Given the description of an element on the screen output the (x, y) to click on. 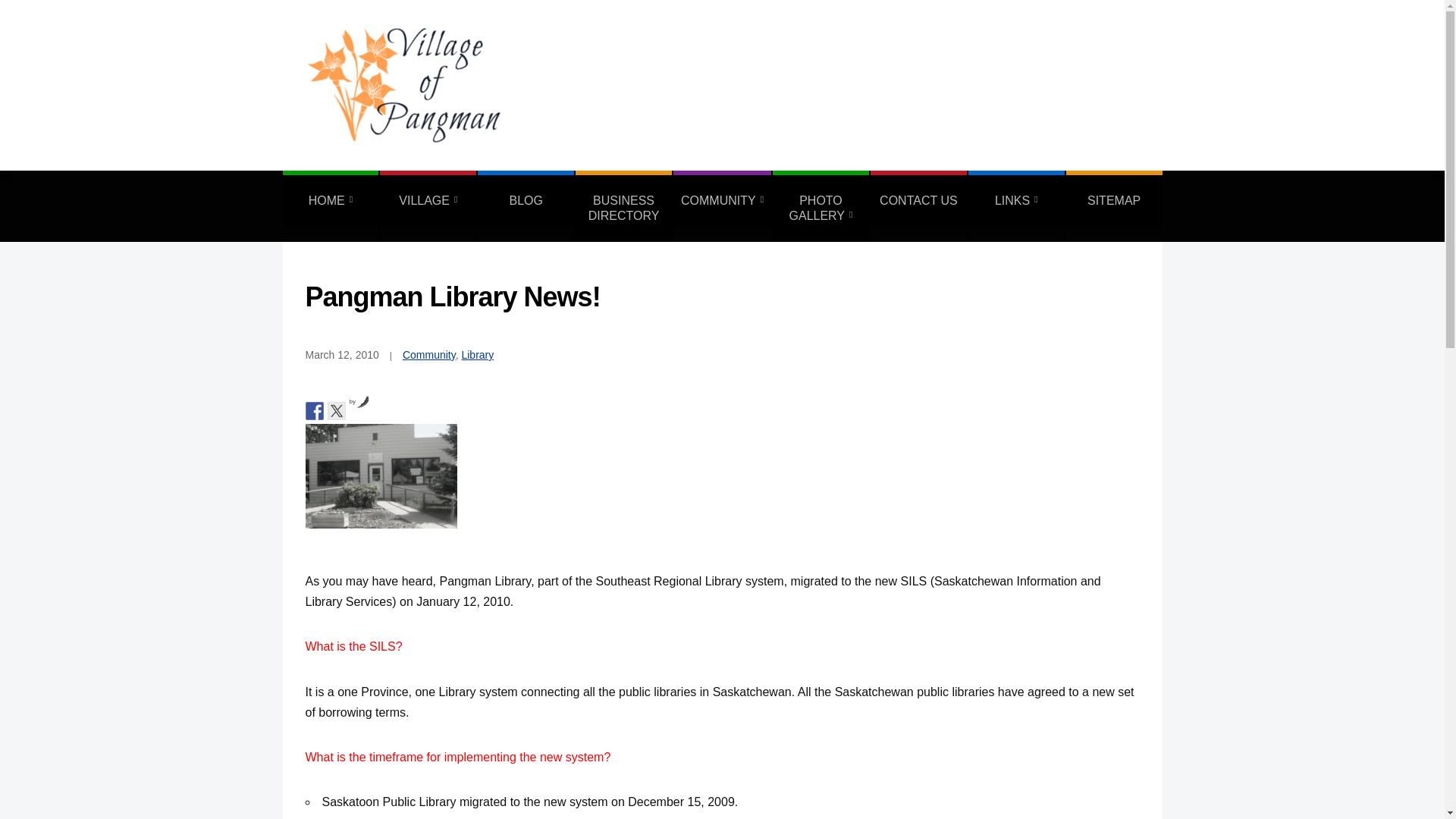
pangmanlibrarypic (380, 476)
Follow us on Facebook (313, 411)
Follow us on Twitter (336, 411)
WordPress Social Media Feather (359, 401)
